Given the description of an element on the screen output the (x, y) to click on. 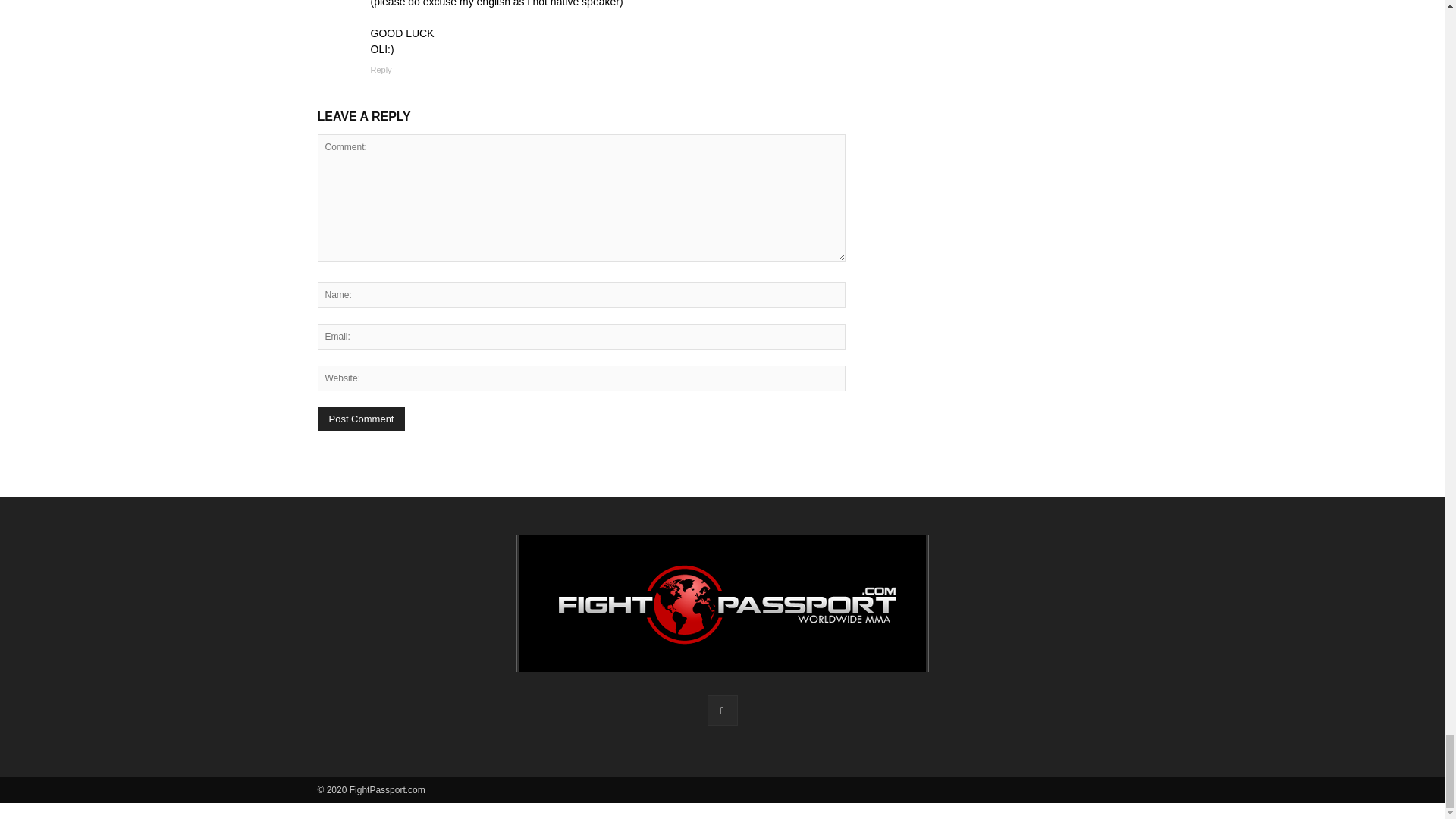
Post Comment (360, 418)
Facebook (721, 710)
